Given the description of an element on the screen output the (x, y) to click on. 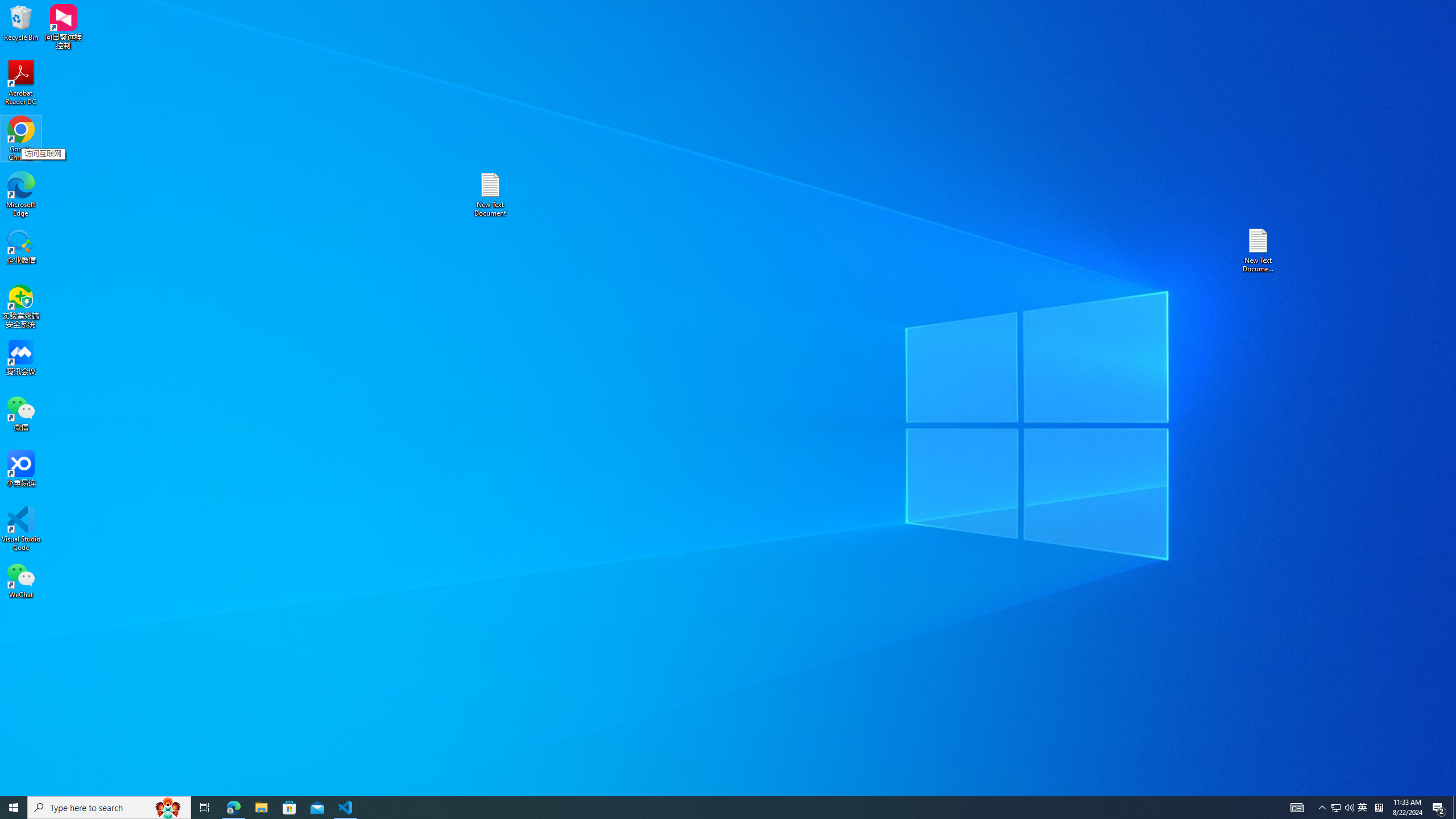
Q2790: 100% (1349, 807)
User Promoted Notification Area (1342, 807)
Type here to search (108, 807)
Visual Studio Code (21, 528)
Running applications (1335, 807)
Action Center, 2 new notifications (707, 807)
AutomationID: 4105 (1439, 807)
Google Chrome (1297, 807)
File Explorer (21, 138)
Microsoft Store (261, 807)
Microsoft Edge (289, 807)
